Given the description of an element on the screen output the (x, y) to click on. 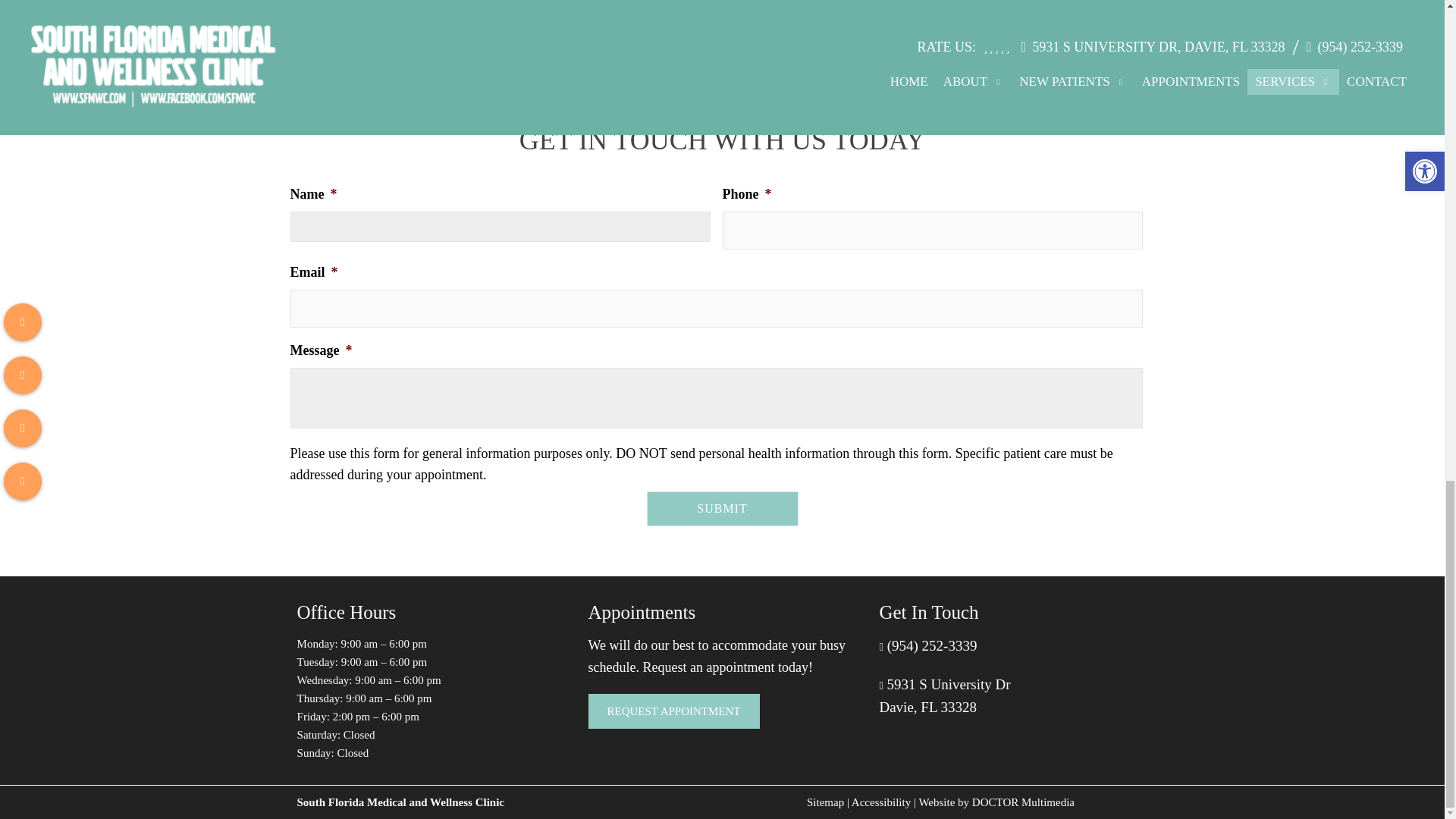
Submit (721, 508)
